Given the description of an element on the screen output the (x, y) to click on. 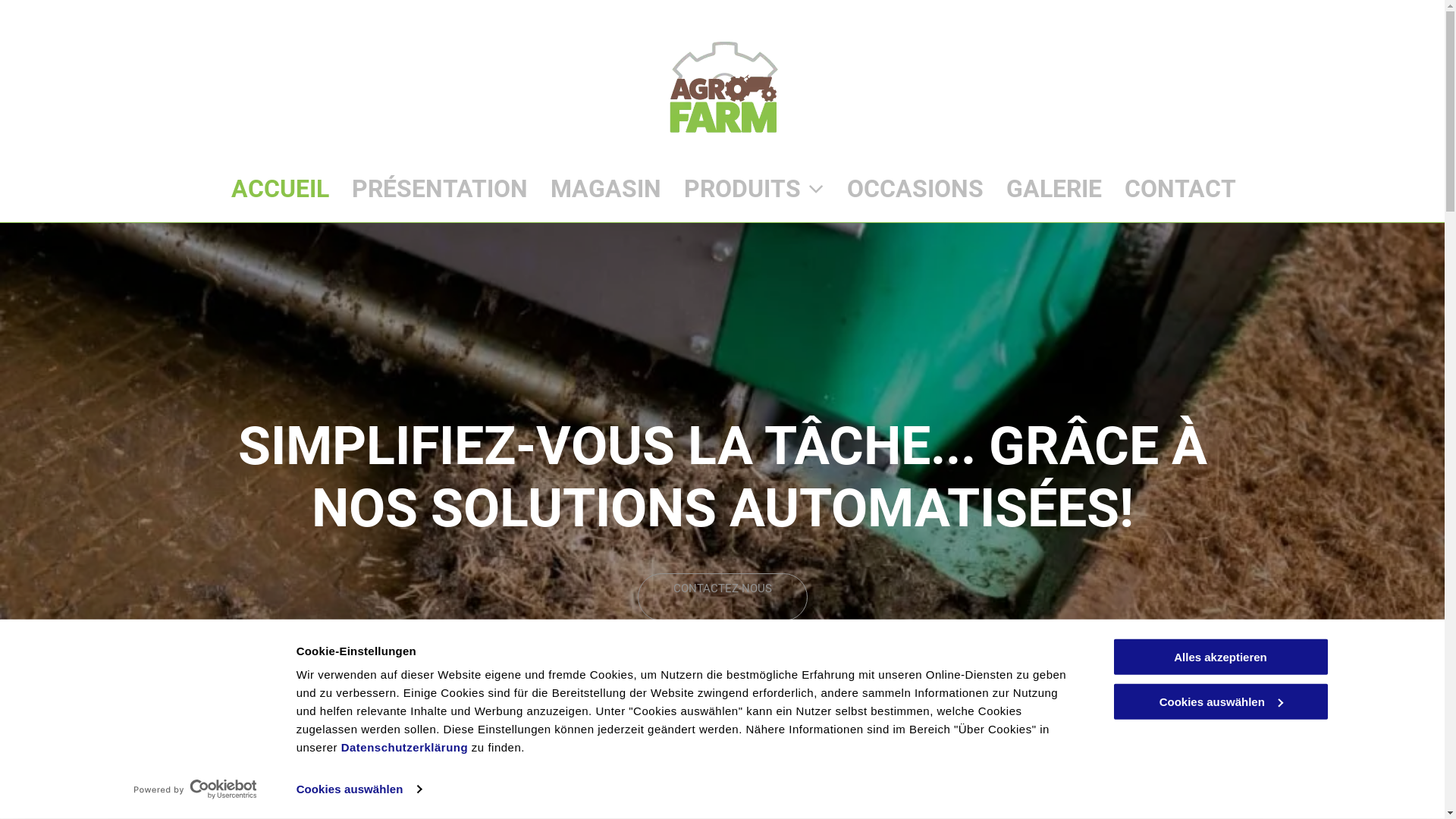
ACCUEIL Element type: text (280, 188)
OCCASIONS Element type: text (915, 188)
MAGASIN Element type: text (605, 188)
Alles akzeptieren Element type: text (1219, 656)
GALERIE Element type: text (1053, 188)
CONTACT Element type: text (1180, 188)
PRODUITS Element type: text (754, 188)
